Given the description of an element on the screen output the (x, y) to click on. 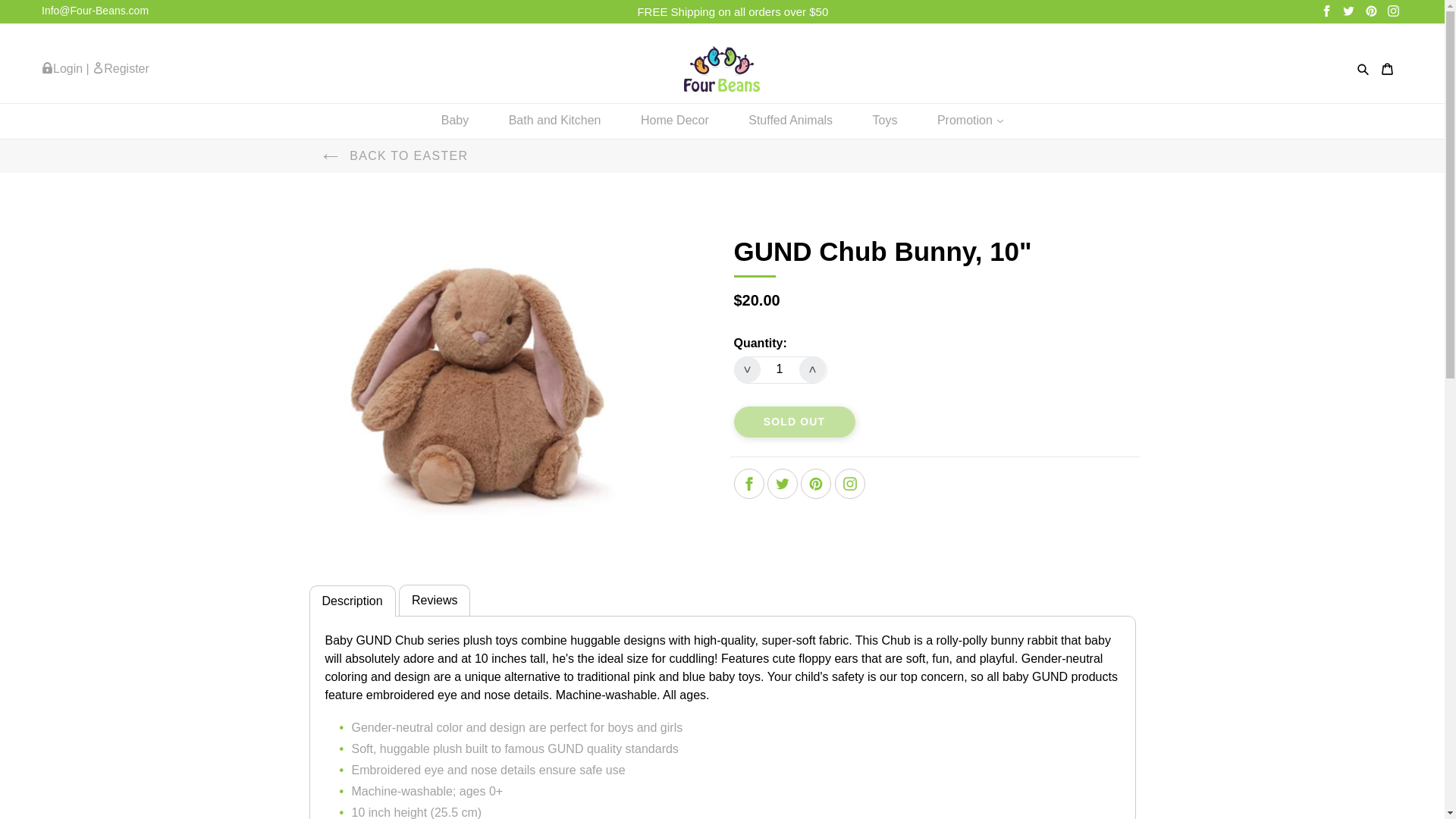
Four Beans on Facebook (1326, 10)
Four Beans on Twitter (1348, 10)
Toys (884, 121)
Bath and Kitchen (554, 121)
Instagram (1393, 10)
Four Beans on Pinterest (815, 483)
Four Beans on Facebook (747, 483)
BACK TO EASTER (394, 155)
1 (779, 369)
Stuffed Animals (790, 121)
